Given the description of an element on the screen output the (x, y) to click on. 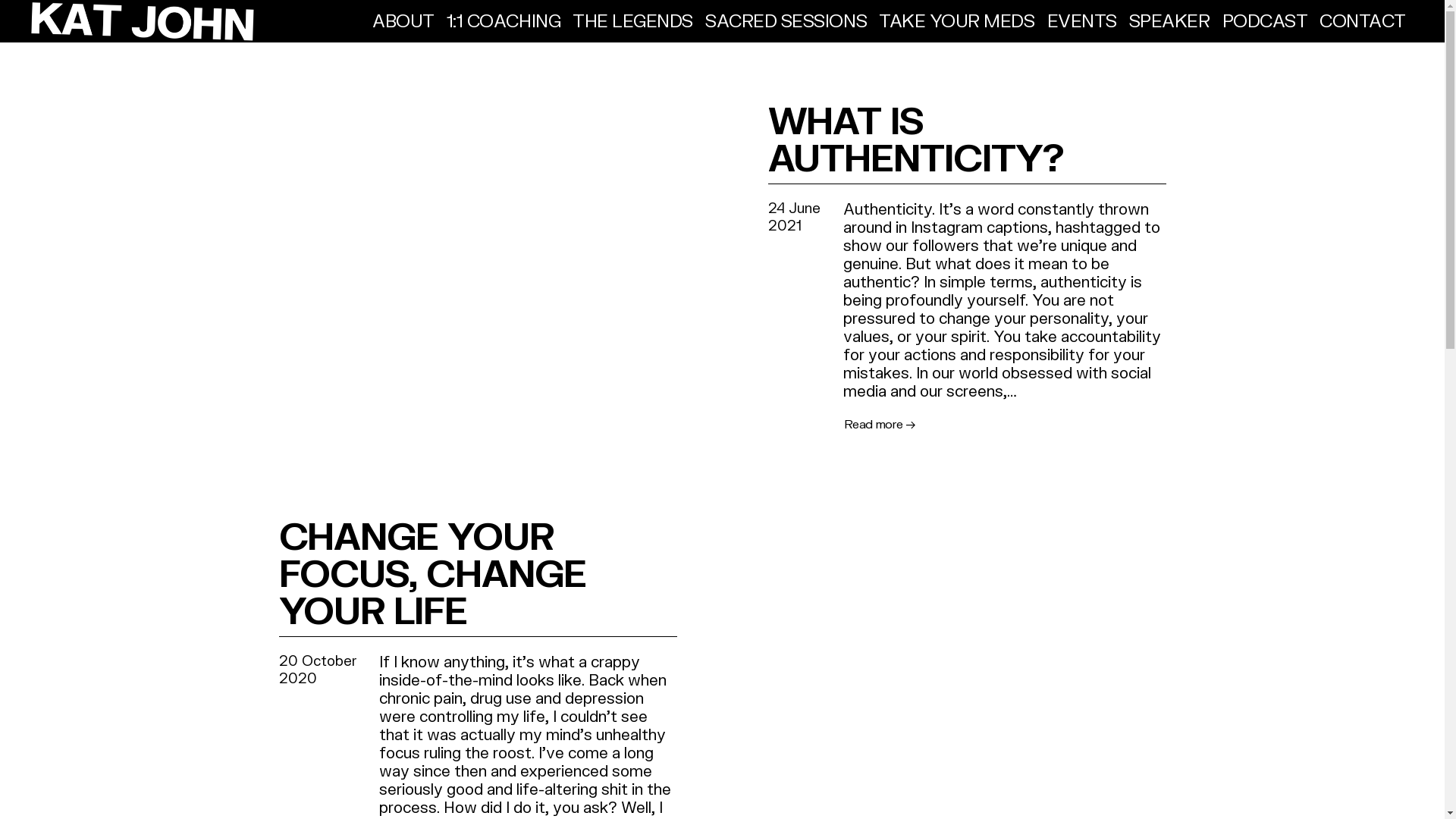
COACHING Element type: text (898, 12)
1:1 COACHING Element type: text (503, 20)
TAKE YOUR MEDS Element type: text (956, 20)
SACRED SESSIONS Element type: text (785, 20)
CONTACT Element type: text (1362, 20)
EVENTS Element type: text (1082, 20)
SPEAKER Element type: text (1169, 20)
ABOUT Element type: text (403, 20)
WHAT MATTERS TO YOU Element type: text (594, 10)
PODCAST Element type: text (1265, 20)
MINDSET Element type: text (771, 10)
THE LEGENDS Element type: text (632, 20)
